Given the description of an element on the screen output the (x, y) to click on. 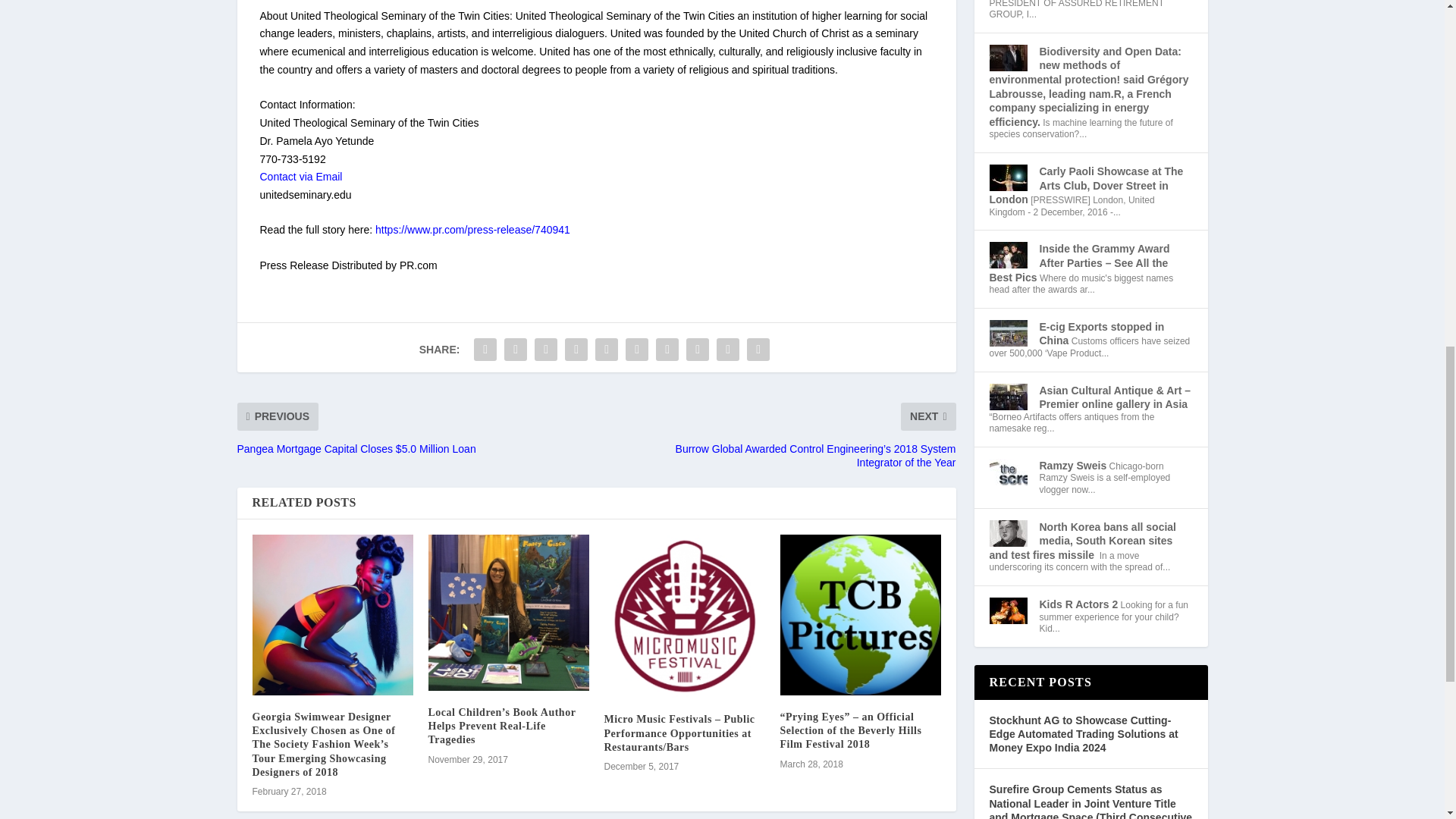
Contact via Email (300, 176)
